Given the description of an element on the screen output the (x, y) to click on. 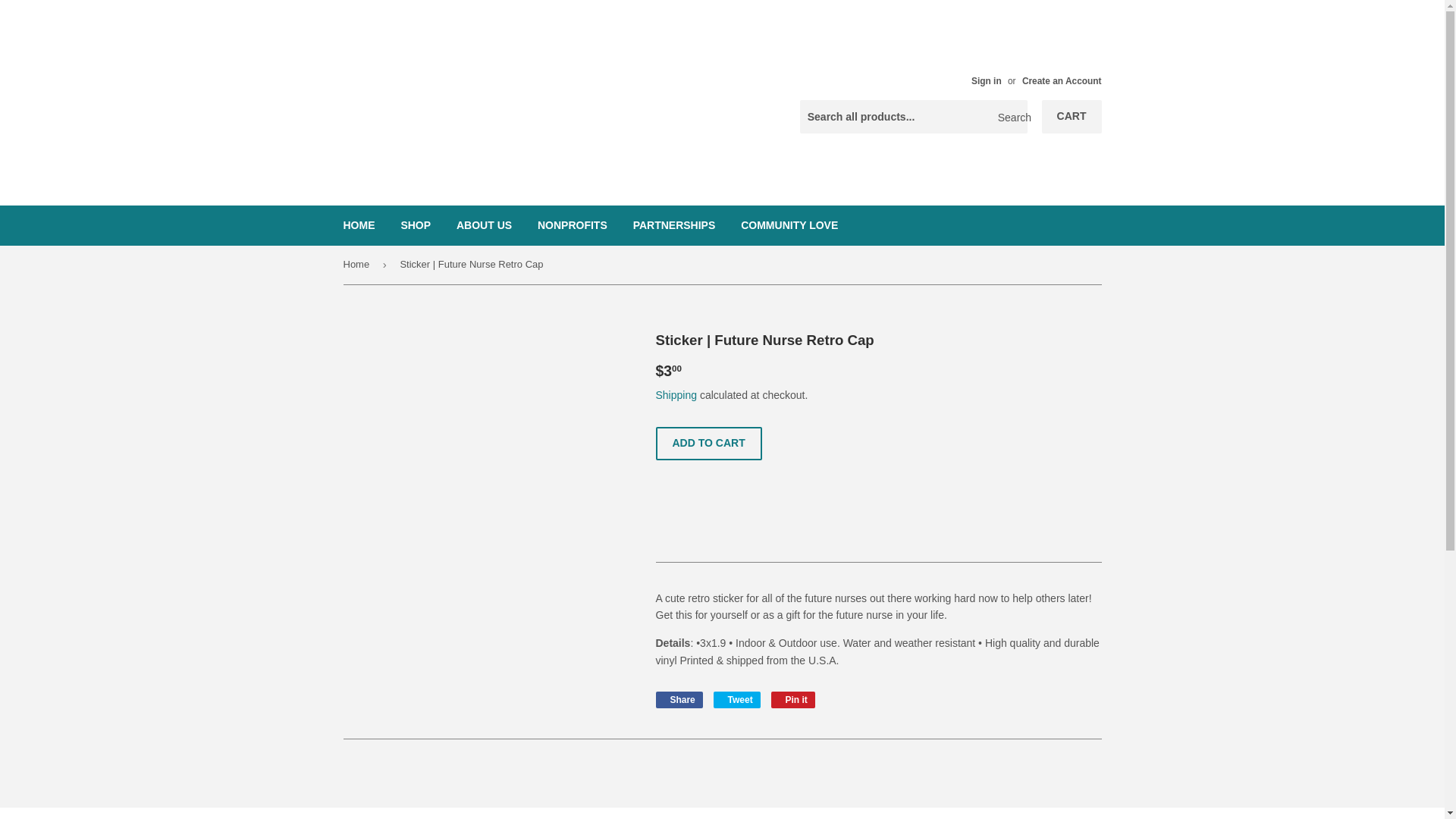
SHOP (415, 224)
PARTNERSHIPS (673, 224)
HOME (359, 224)
ABOUT US (483, 224)
ADD TO CART (708, 443)
CART (1072, 116)
Search (1009, 117)
Tweet on Twitter (736, 699)
COMMUNITY LOVE (788, 224)
Shipping (676, 395)
